Given the description of an element on the screen output the (x, y) to click on. 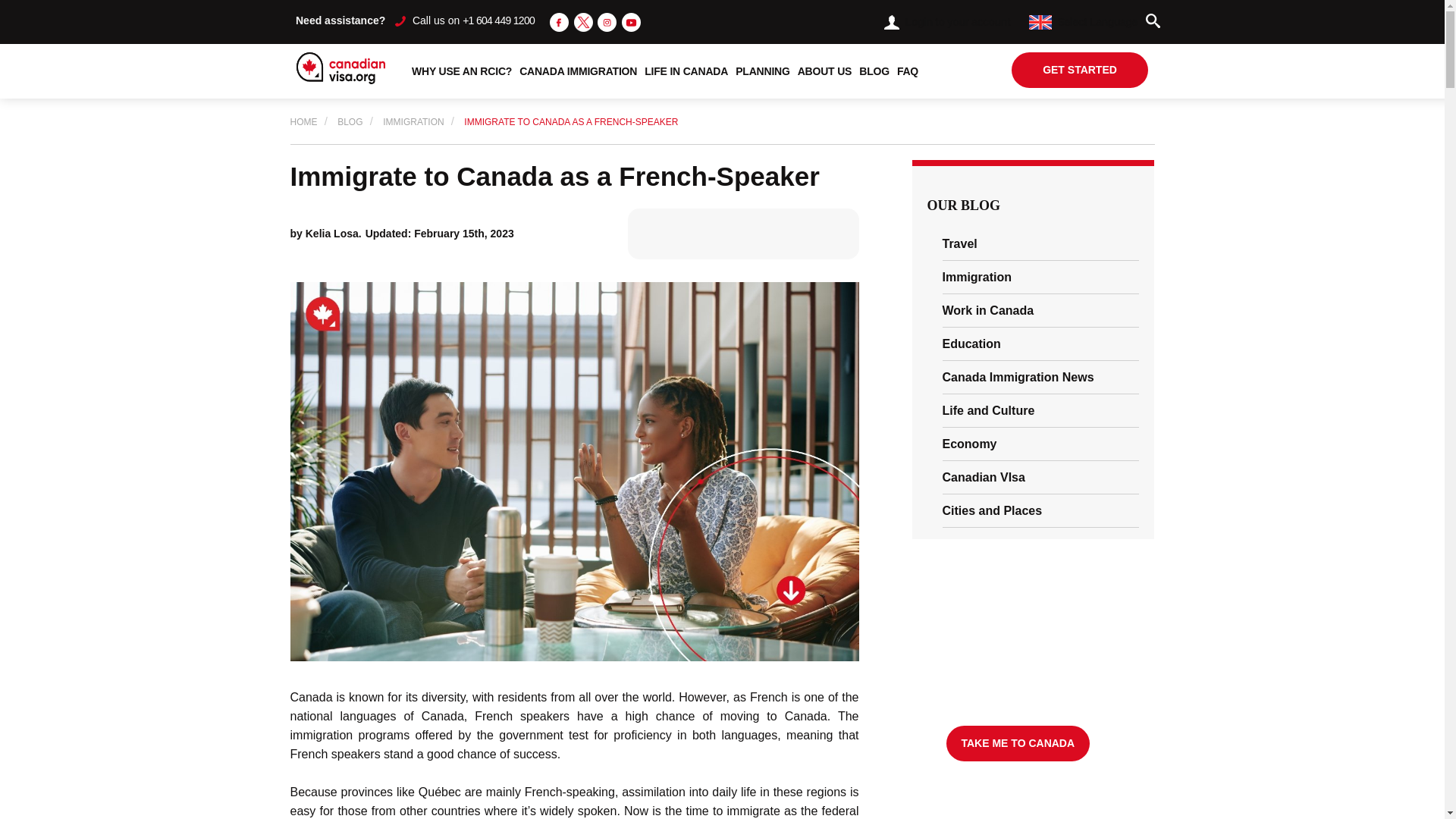
instagram (605, 21)
language (1040, 22)
youtube (630, 22)
instagram (605, 22)
facebook (559, 21)
Select Language (1083, 21)
CANADA IMMIGRATION (577, 71)
twitter (582, 22)
twitter (582, 21)
youtube (630, 21)
